Given the description of an element on the screen output the (x, y) to click on. 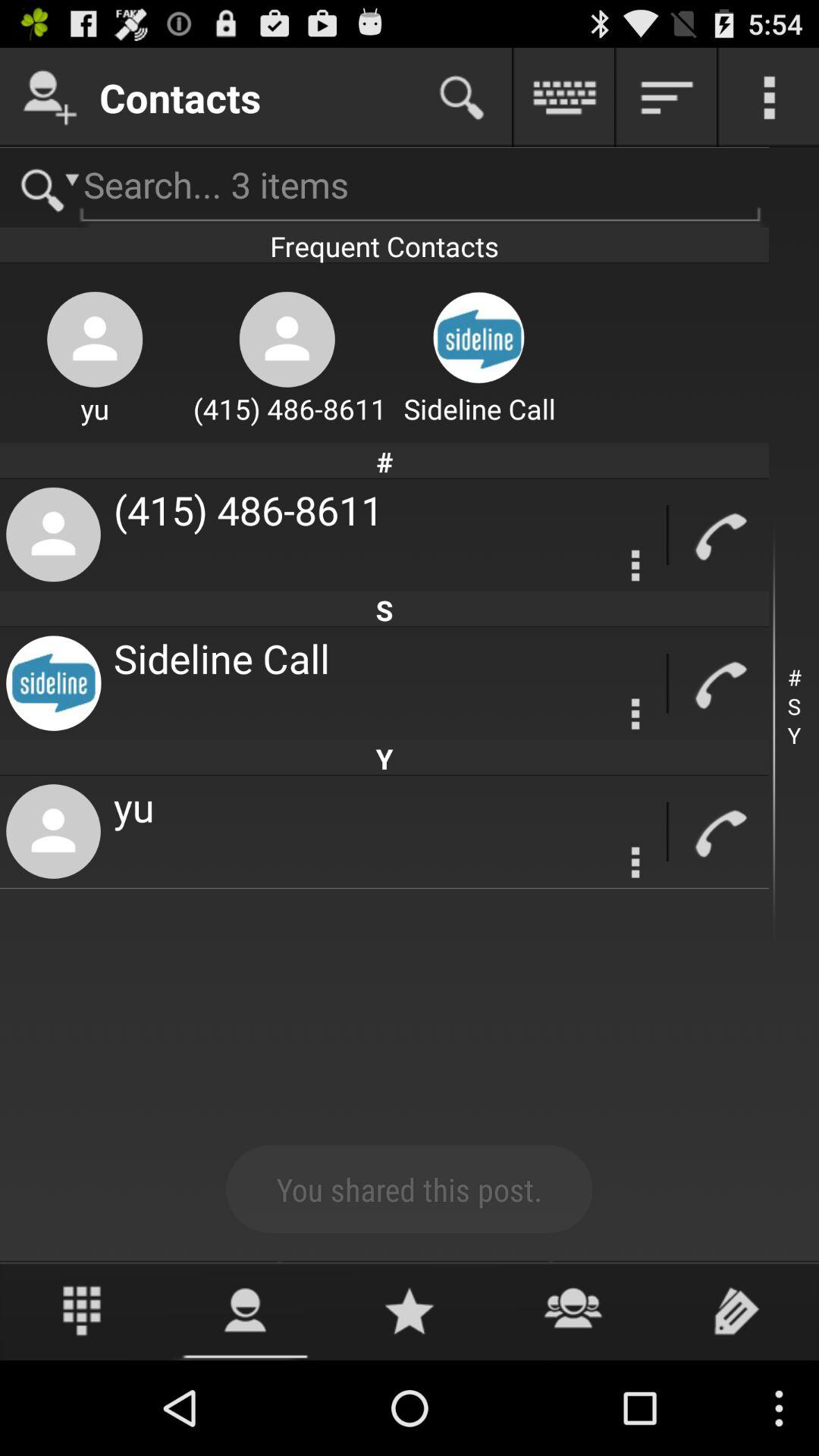
open the keyboard (564, 97)
